Given the description of an element on the screen output the (x, y) to click on. 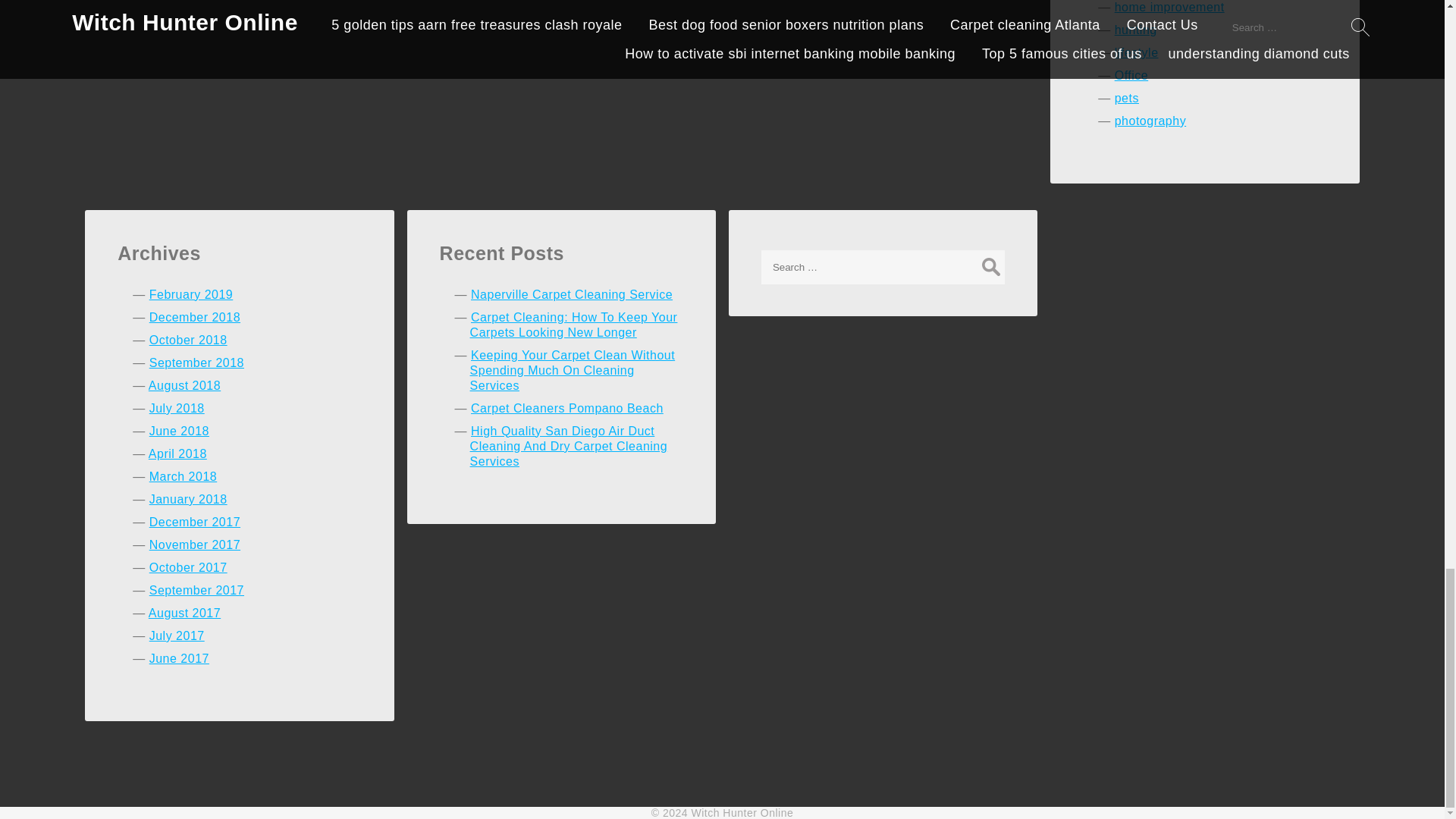
photography (1150, 120)
February 2019 (190, 294)
home improvement (1169, 6)
pets (1126, 97)
Office (1131, 74)
lifestyle (1136, 51)
December 2018 (194, 317)
September 2018 (196, 362)
October 2018 (188, 339)
hunting (1136, 29)
